Given the description of an element on the screen output the (x, y) to click on. 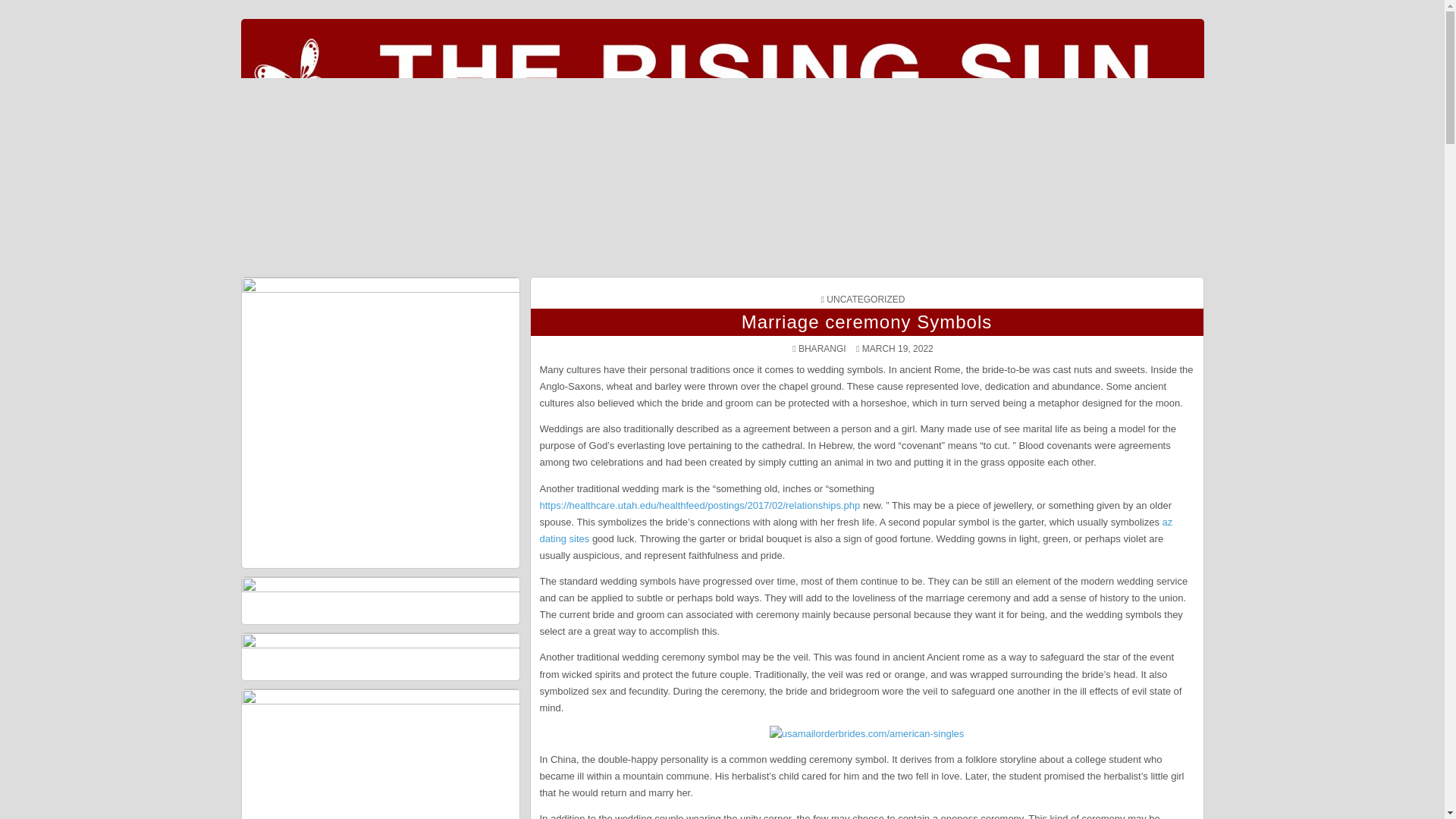
Marriage ceremony Symbols (866, 322)
UNCATEGORIZED (865, 299)
az dating sites (856, 530)
BHARANGI (821, 348)
